Given the description of an element on the screen output the (x, y) to click on. 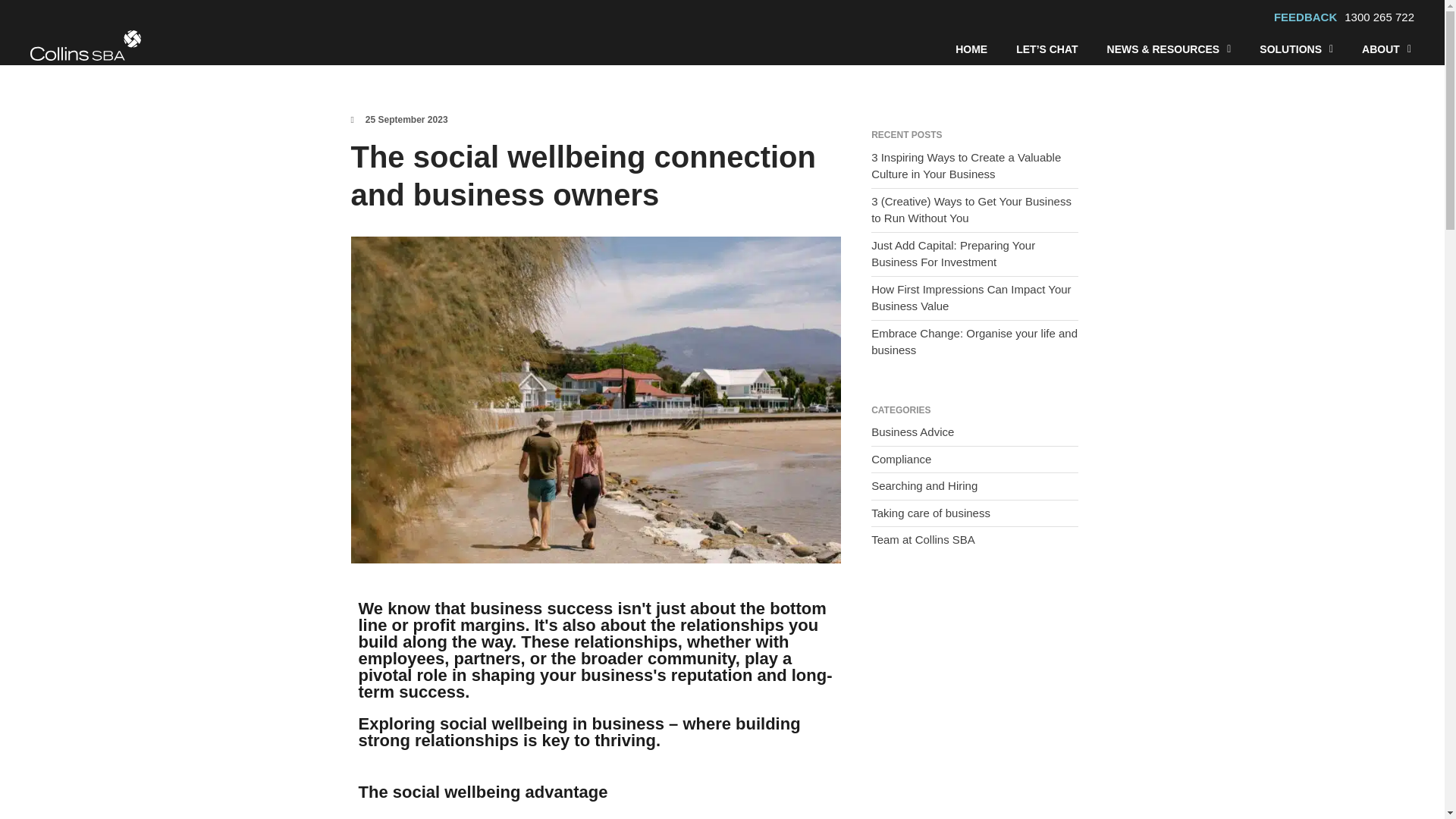
FEEDBACK (1308, 16)
1300 265 722 (1378, 16)
